Given the description of an element on the screen output the (x, y) to click on. 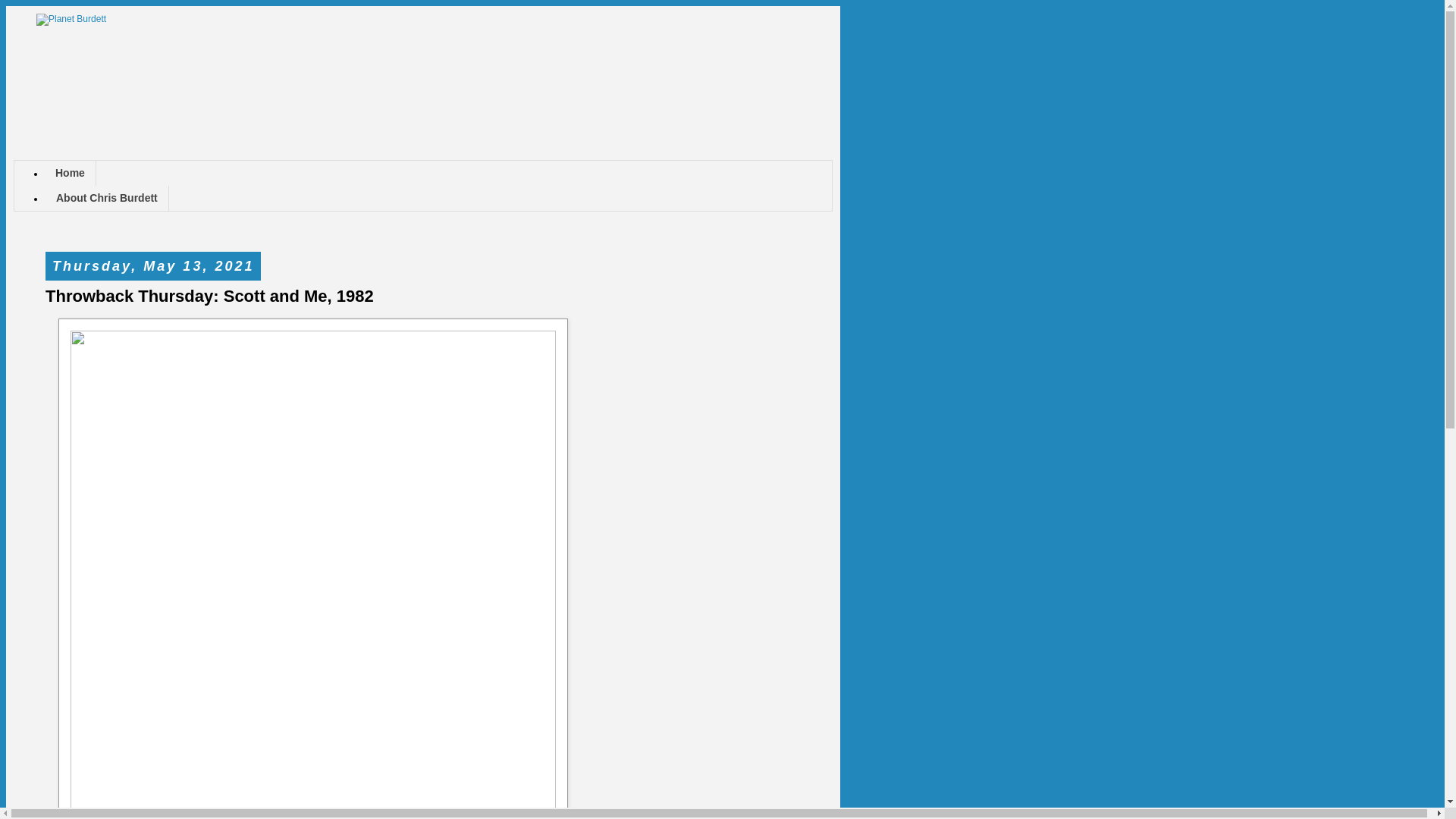
About Chris Burdett (106, 197)
Home (70, 172)
